Given the description of an element on the screen output the (x, y) to click on. 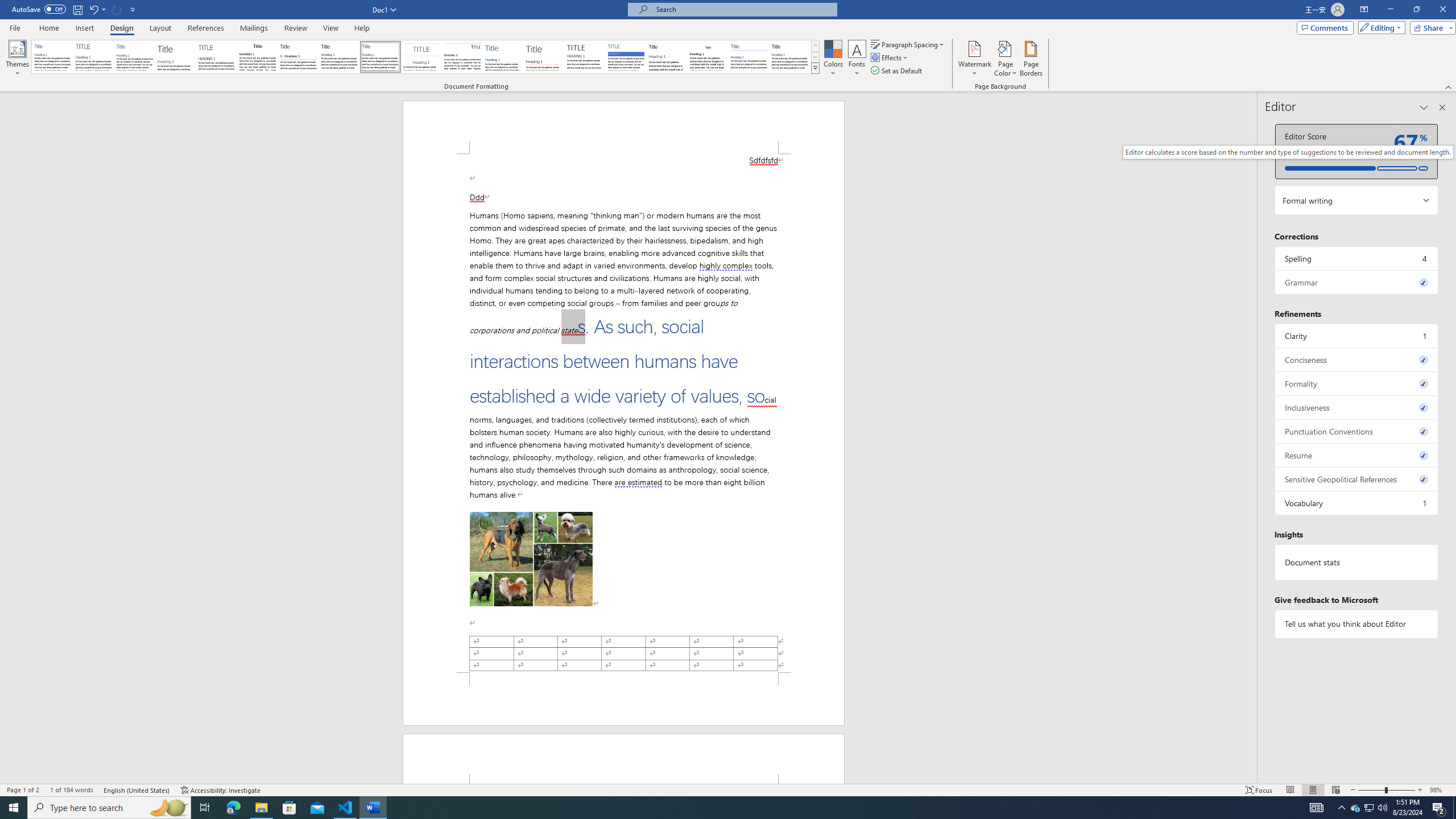
Basic (Stylish) (175, 56)
Editor Score 67% (1356, 151)
Clarity, 1 issue. Press space or enter to review items. (1356, 335)
Tell us what you think about Editor (1356, 624)
Black & White (Numbered) (298, 56)
Themes (17, 58)
Lines (Distinctive) (462, 56)
Page Color (1005, 58)
Page 1 content (623, 412)
